Given the description of an element on the screen output the (x, y) to click on. 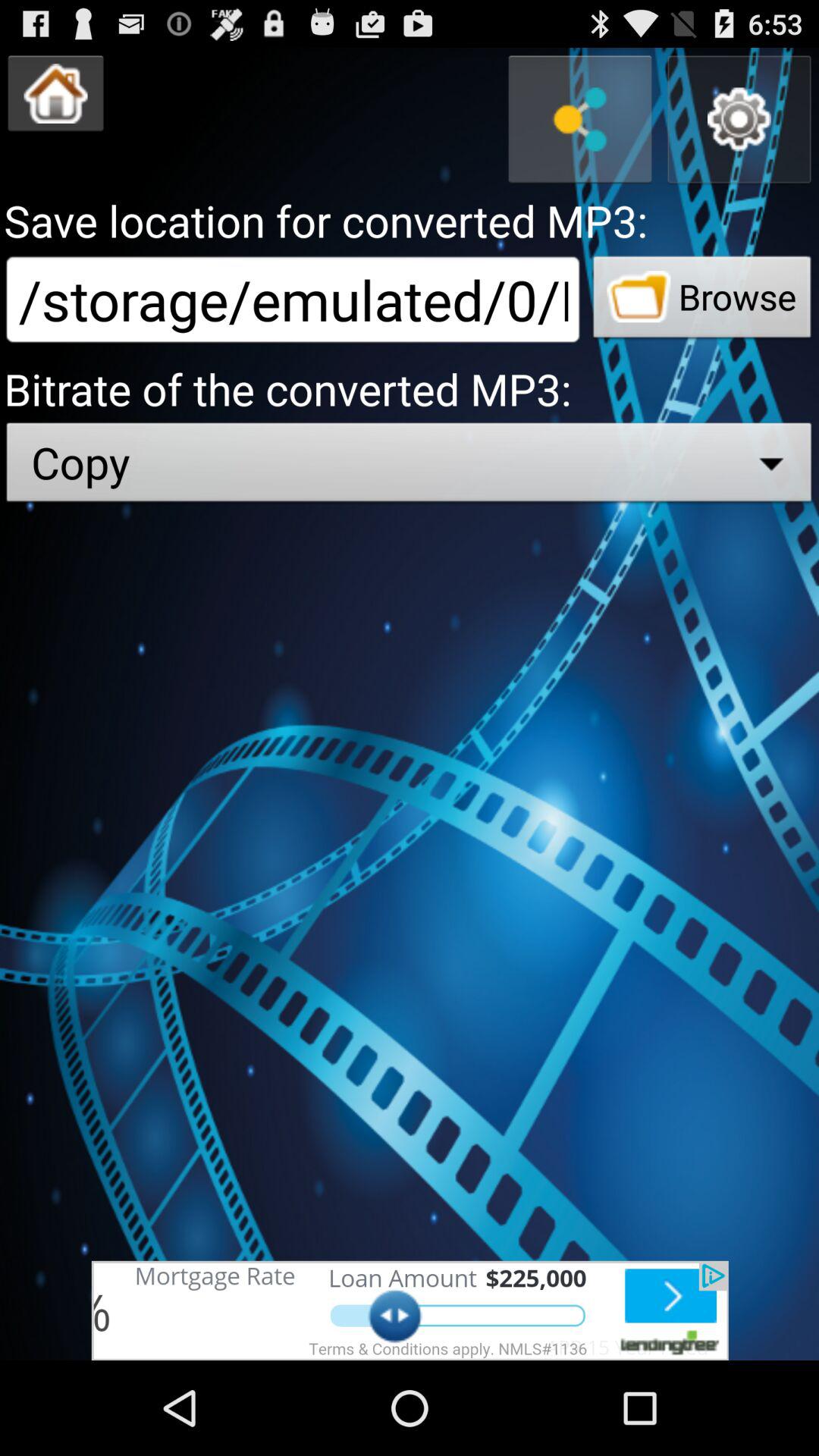
view the advertisement (409, 1310)
